Given the description of an element on the screen output the (x, y) to click on. 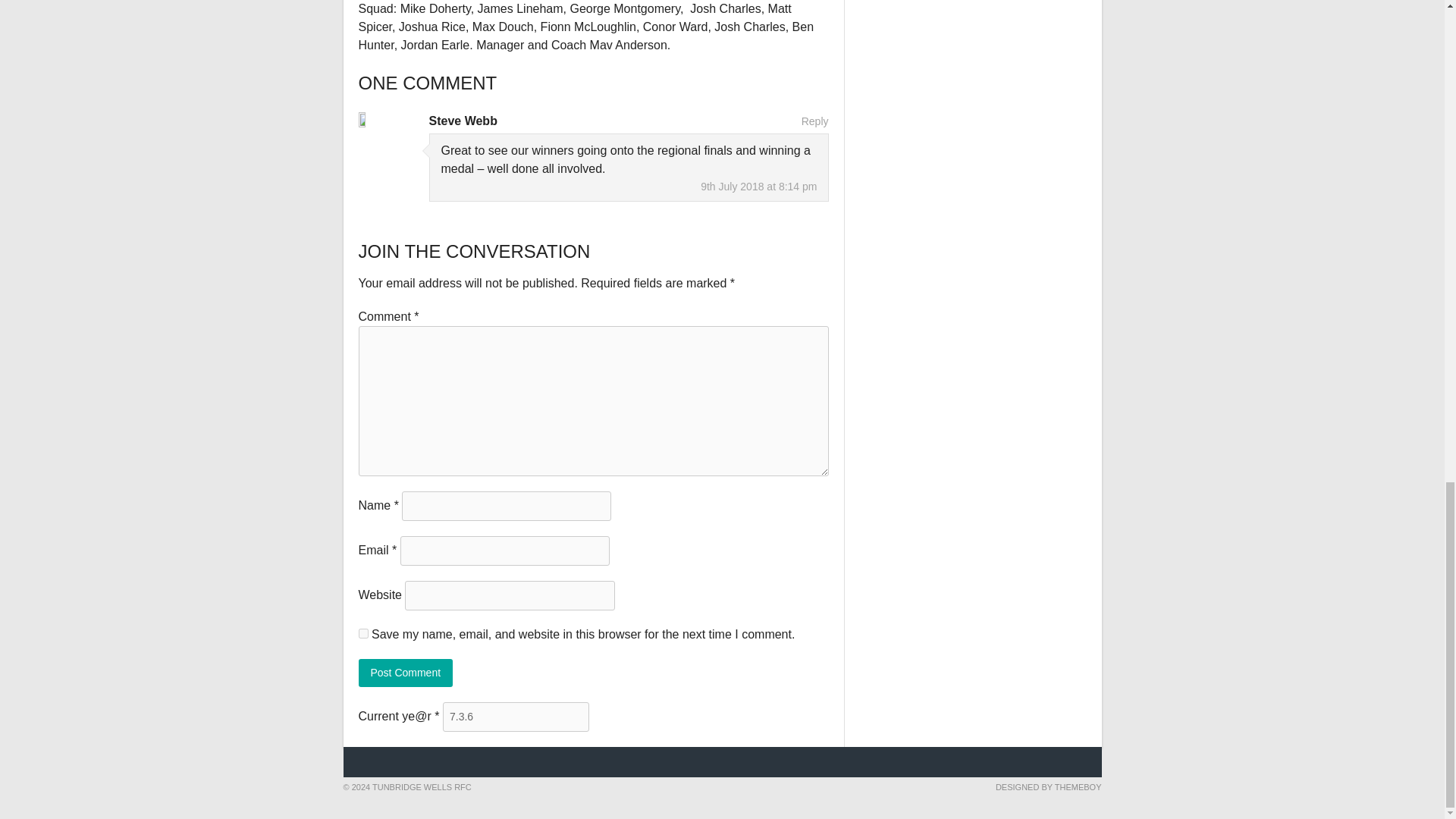
yes (363, 633)
Post Comment (405, 673)
7.3.6 (515, 716)
